Given the description of an element on the screen output the (x, y) to click on. 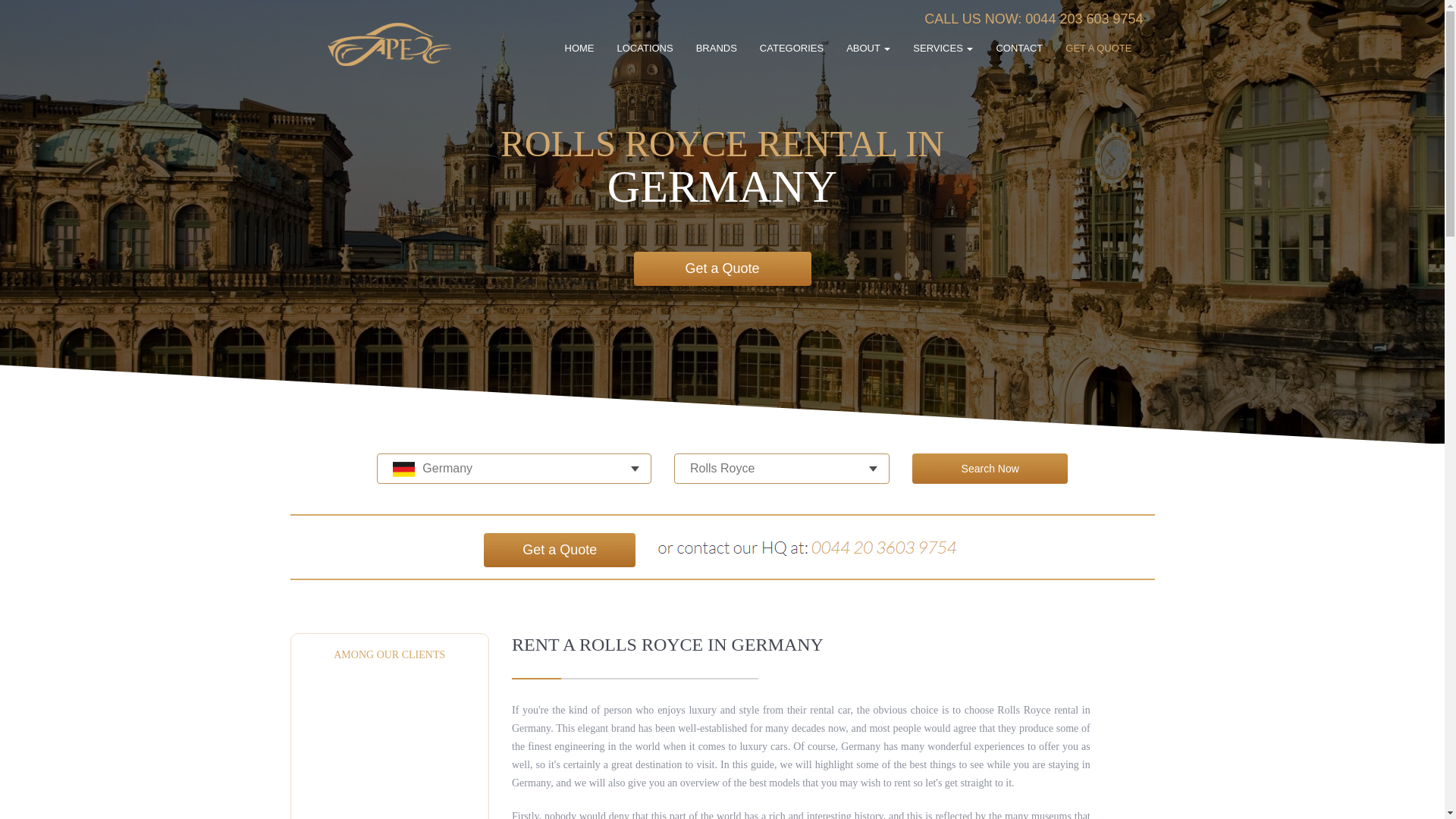
GET A QUOTE (1098, 48)
Search Now (990, 468)
Get a Quote (558, 550)
HOME (579, 48)
CALL US NOW: 0044 203 603 9754 (1033, 18)
Get a Quote (721, 268)
LOCATIONS (644, 48)
CONTACT (1018, 48)
SERVICES (942, 48)
CATEGORIES (792, 48)
ABOUT (867, 48)
BRANDS (715, 48)
